Given the description of an element on the screen output the (x, y) to click on. 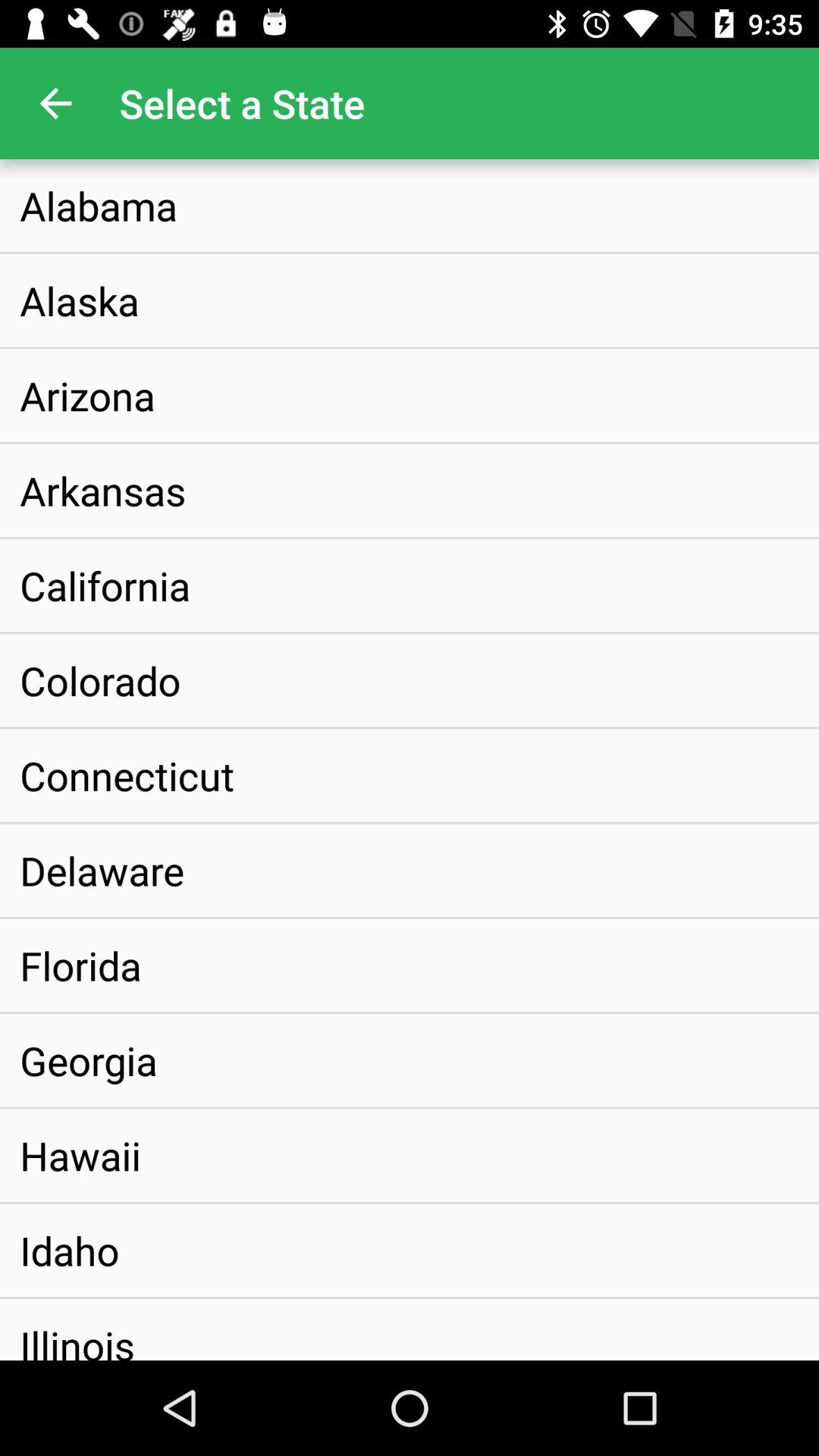
open colorado icon (100, 680)
